Given the description of an element on the screen output the (x, y) to click on. 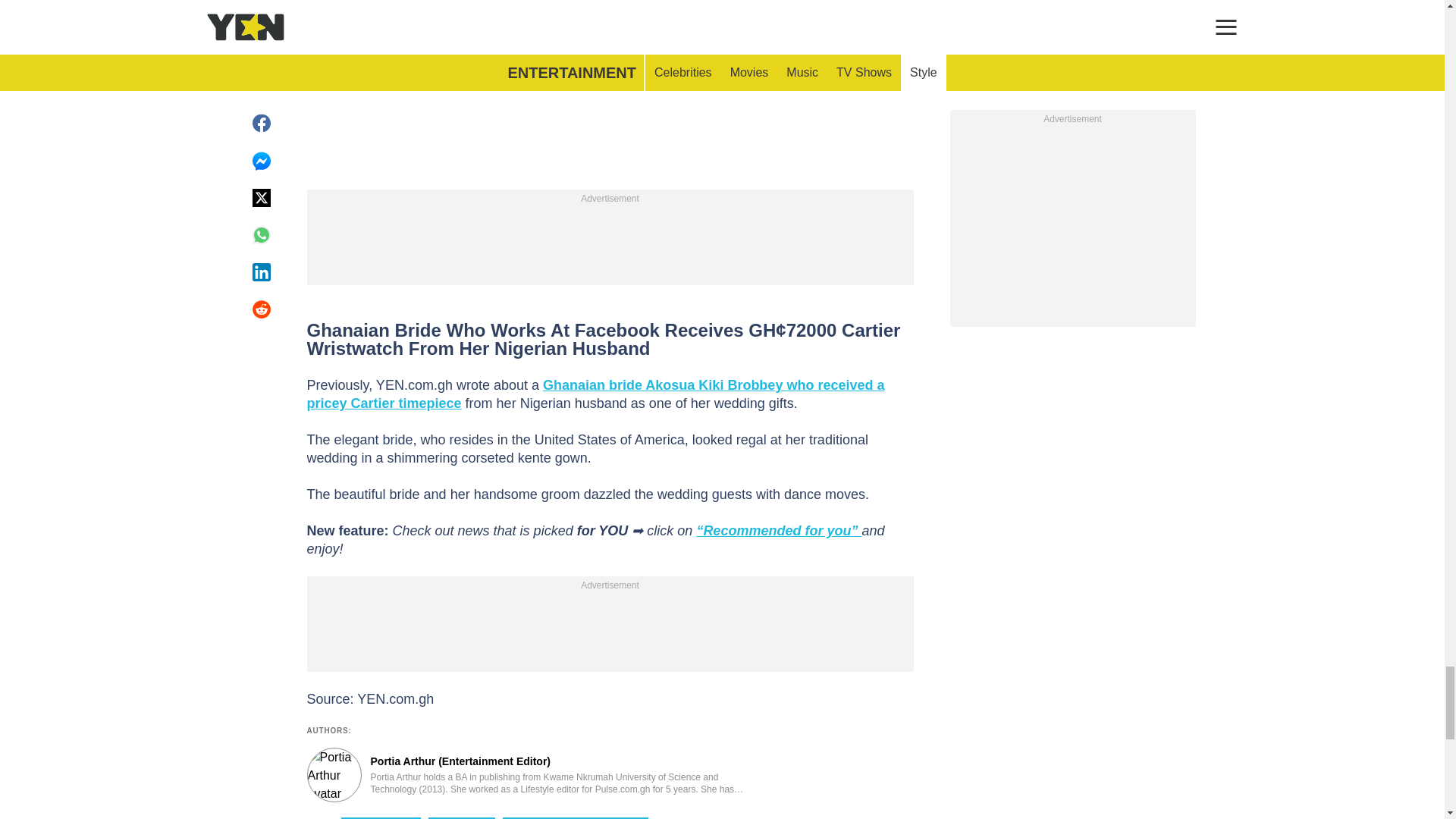
Author page (533, 774)
